Given the description of an element on the screen output the (x, y) to click on. 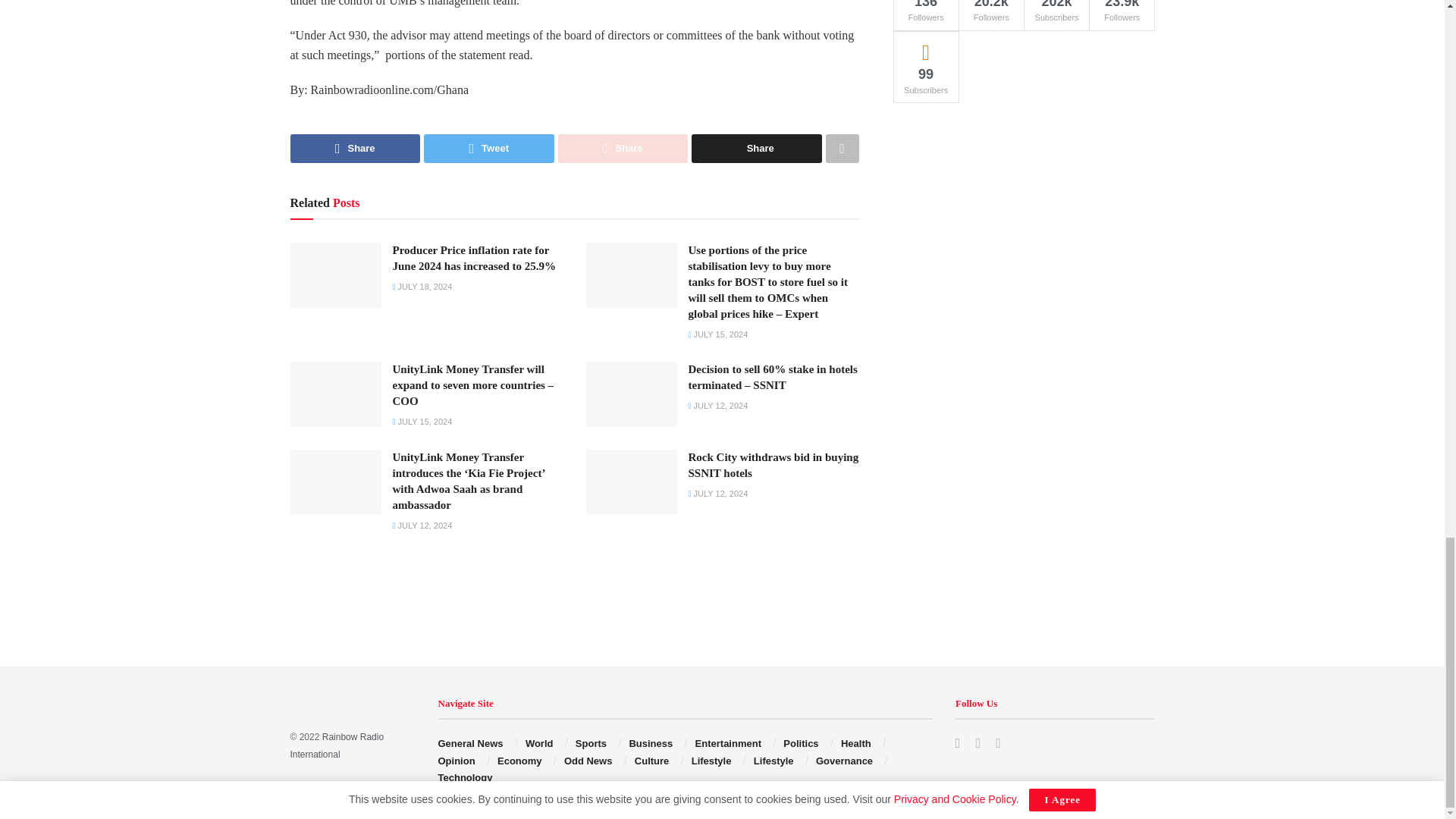
Share (354, 148)
Share (756, 148)
JULY 18, 2024 (422, 286)
Rainbow Radio Int. (336, 745)
Tweet (488, 148)
Share (622, 148)
